Given the description of an element on the screen output the (x, y) to click on. 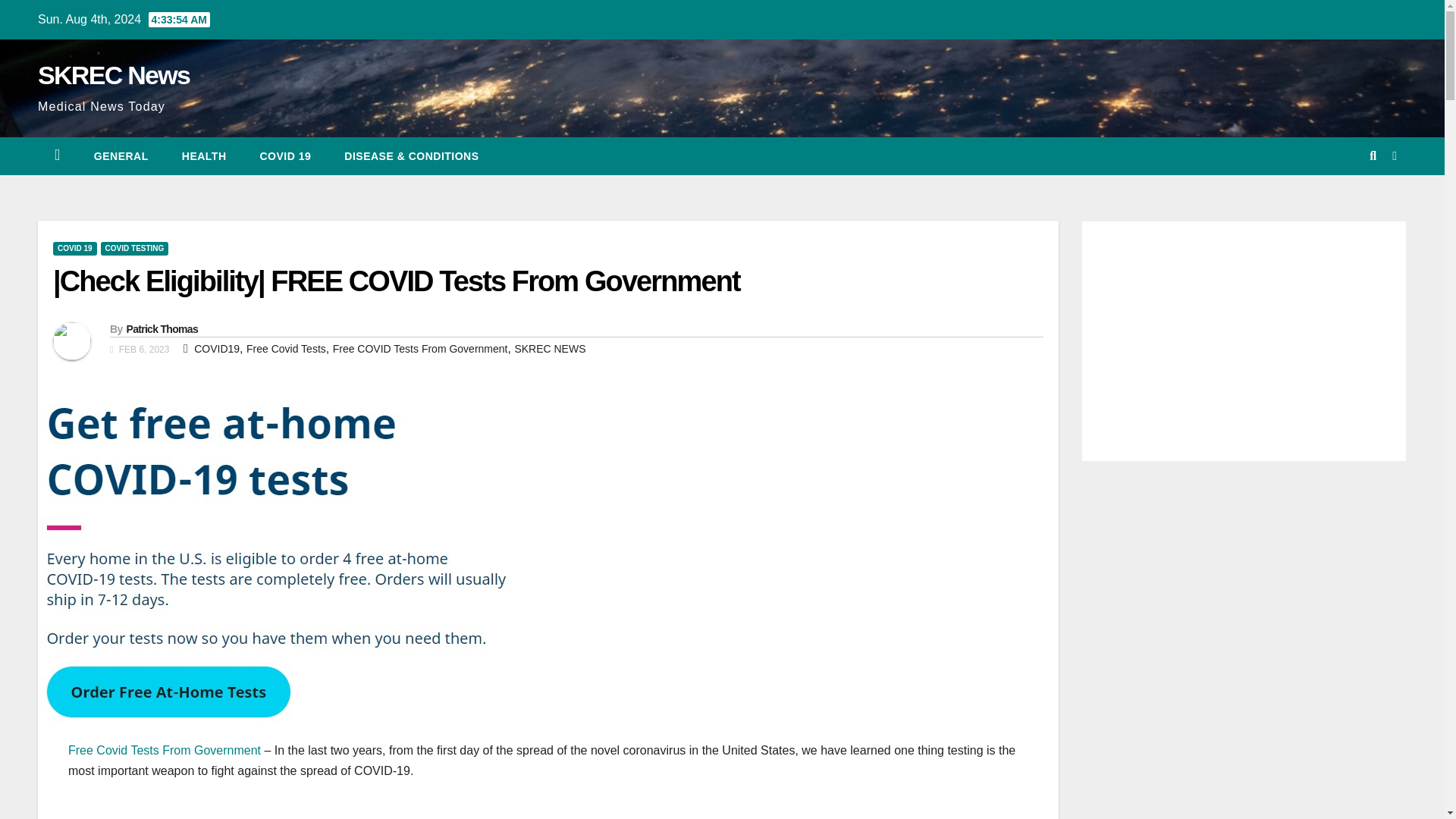
Covid 19 (285, 156)
COVID TESTING (134, 248)
Free Covid Tests From Government (164, 749)
Free COVID Tests From Government (420, 348)
SKREC NEWS (549, 348)
Health (204, 156)
COVID 19 (285, 156)
COVID19 (216, 348)
COVID 19 (74, 248)
GENERAL (121, 156)
HEALTH (204, 156)
General (121, 156)
SKREC News (113, 74)
Free Covid Tests (286, 348)
Advertisement (523, 807)
